Given the description of an element on the screen output the (x, y) to click on. 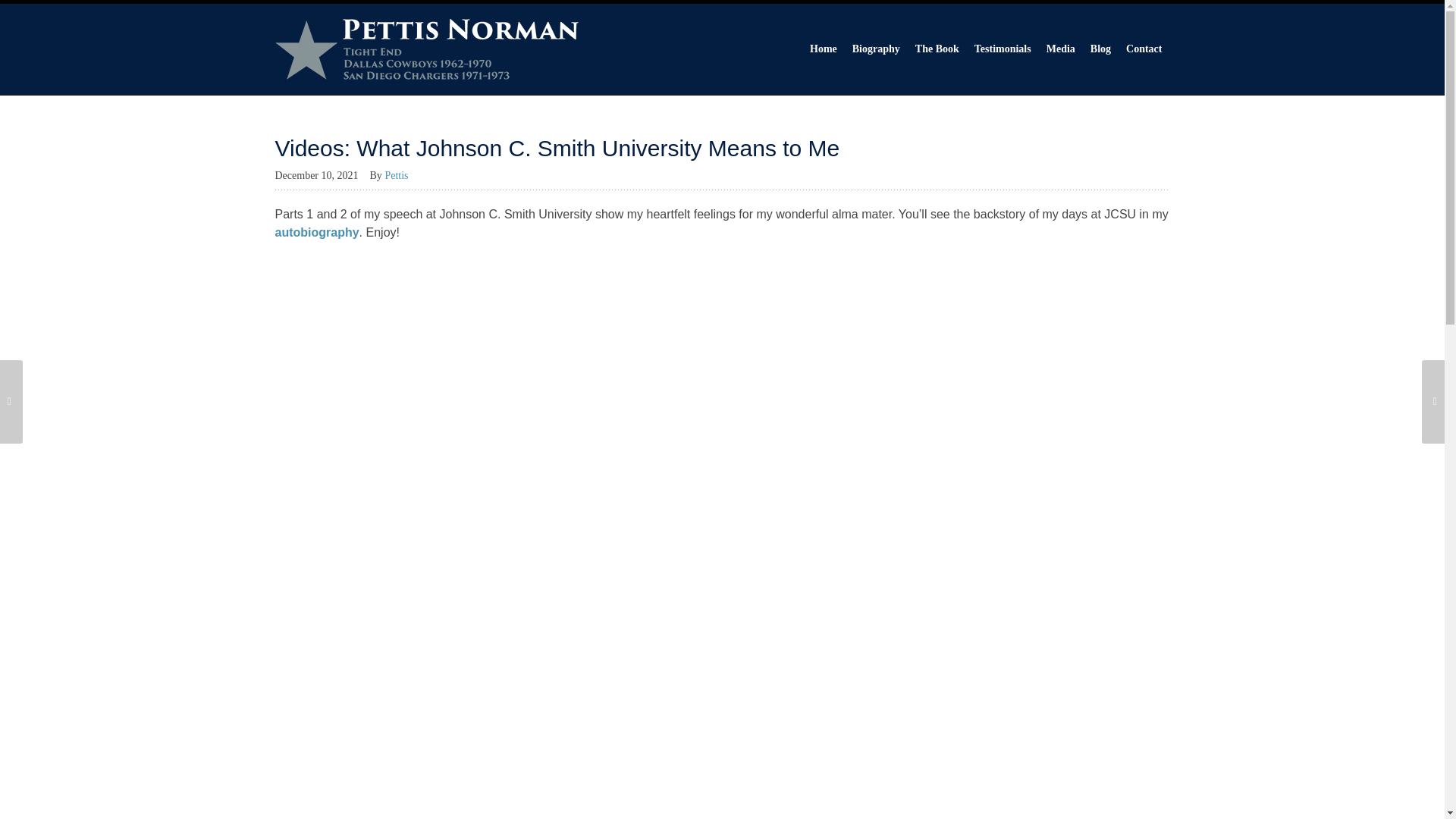
View all posts by Pettis (401, 174)
Pettis Norman (426, 49)
Biography (875, 48)
Home (823, 48)
Pettis (401, 174)
Contact (1143, 48)
The Book (936, 48)
Media (1061, 48)
autobiography (316, 232)
Blog (1100, 48)
Testimonials (1002, 48)
